Given the description of an element on the screen output the (x, y) to click on. 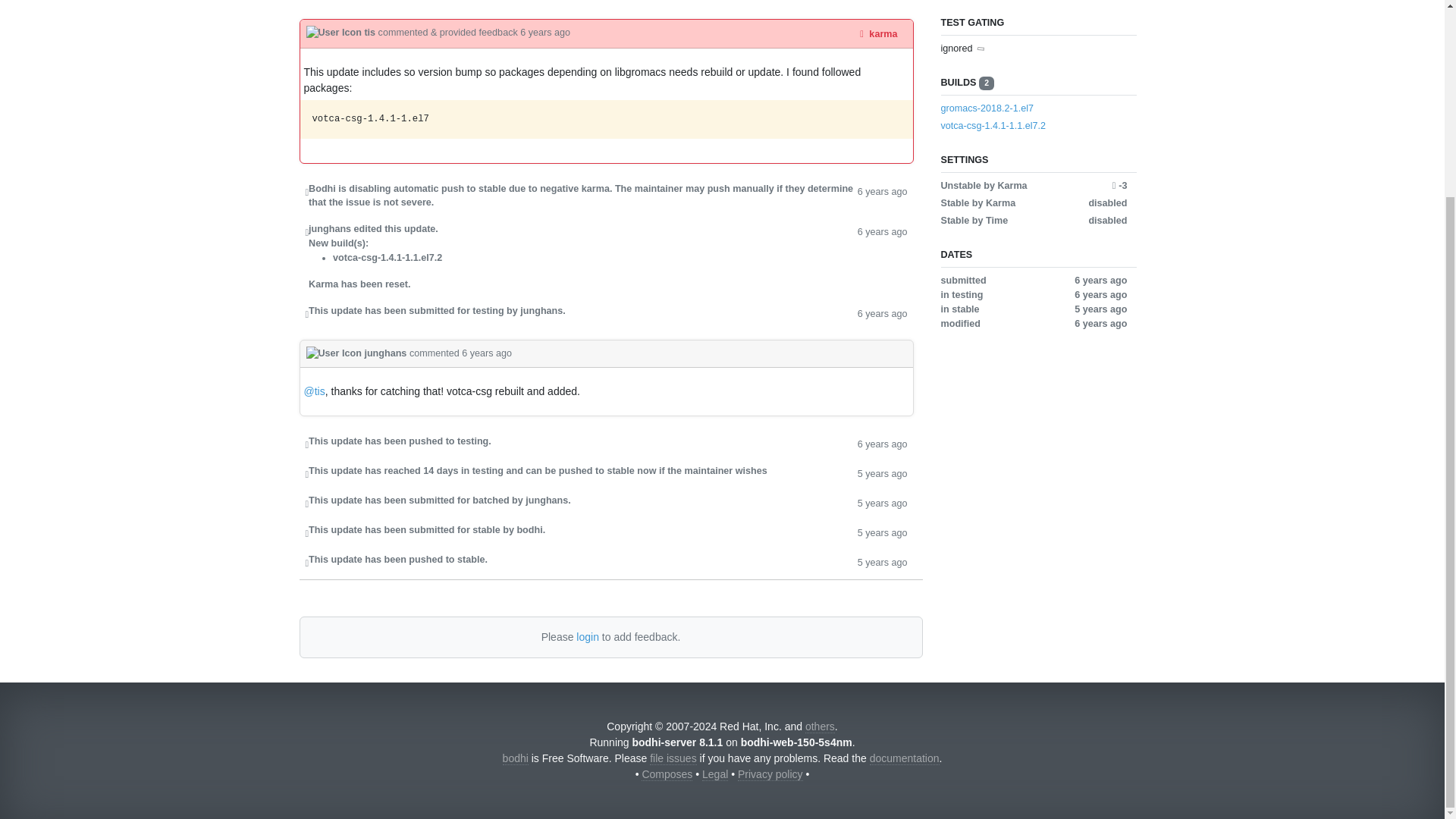
5 years ago (882, 561)
gromacs-2018.2-1.el7 (1033, 108)
gromacs-2018.2-1.el7 (986, 108)
junghans (357, 353)
5 years ago (882, 472)
6 years ago (544, 32)
votca-csg-1.4.1-1.1.el7.2 (1033, 125)
6 years ago (882, 443)
5 years ago (882, 502)
6 years ago (882, 0)
6 years ago (882, 195)
login (587, 636)
votca-csg-1.4.1-1.1.el7.2 (992, 125)
ignored (956, 48)
5 years ago (882, 531)
